Given the description of an element on the screen output the (x, y) to click on. 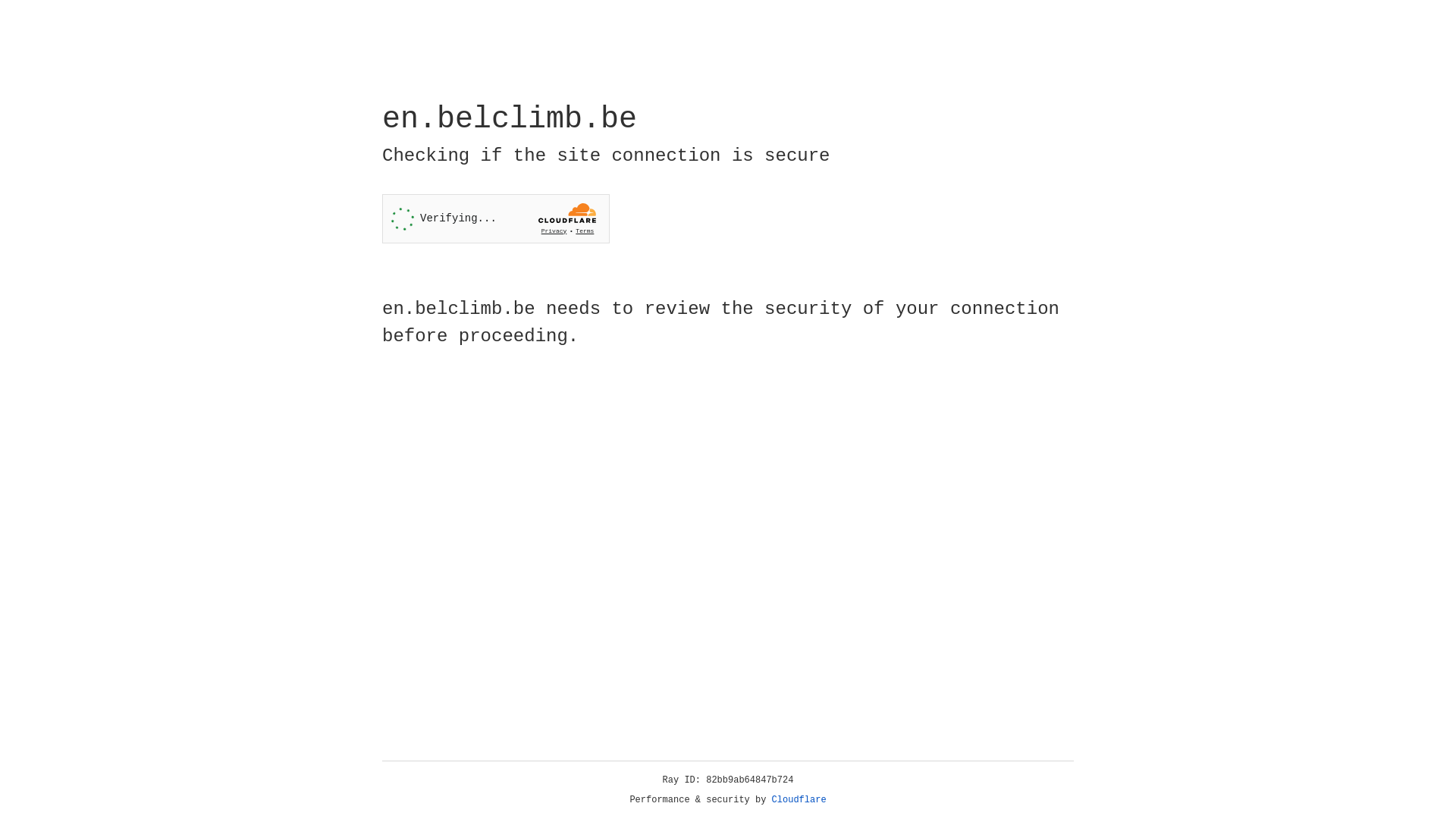
Cloudflare Element type: text (798, 799)
Widget containing a Cloudflare security challenge Element type: hover (495, 218)
